Given the description of an element on the screen output the (x, y) to click on. 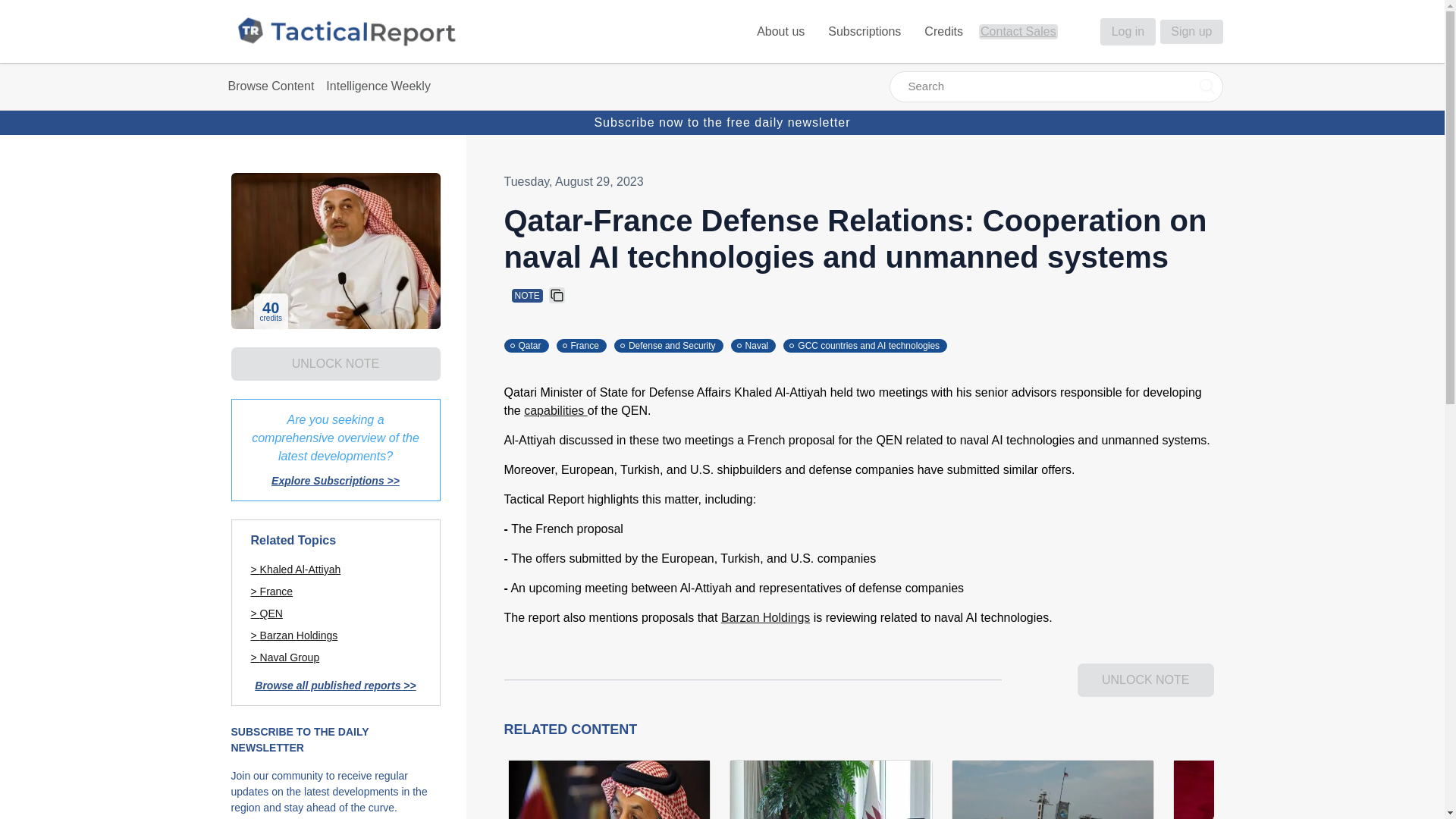
About us (782, 31)
Browse Content (270, 86)
Subscriptions (866, 31)
Contact Sales (1018, 31)
Log in (1128, 31)
Sign up (1191, 31)
Credits (945, 31)
